Given the description of an element on the screen output the (x, y) to click on. 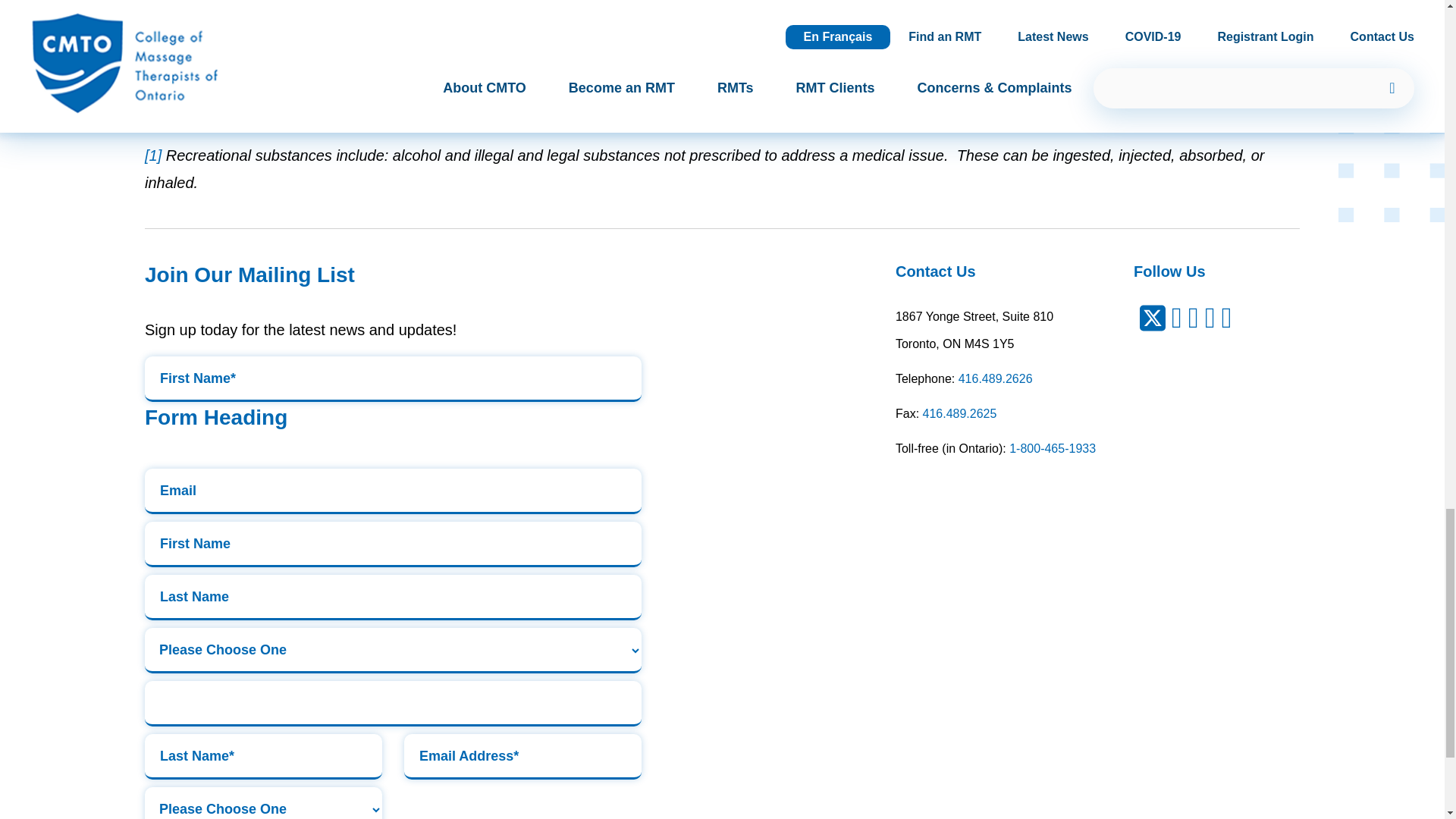
Submit (393, 703)
